Given the description of an element on the screen output the (x, y) to click on. 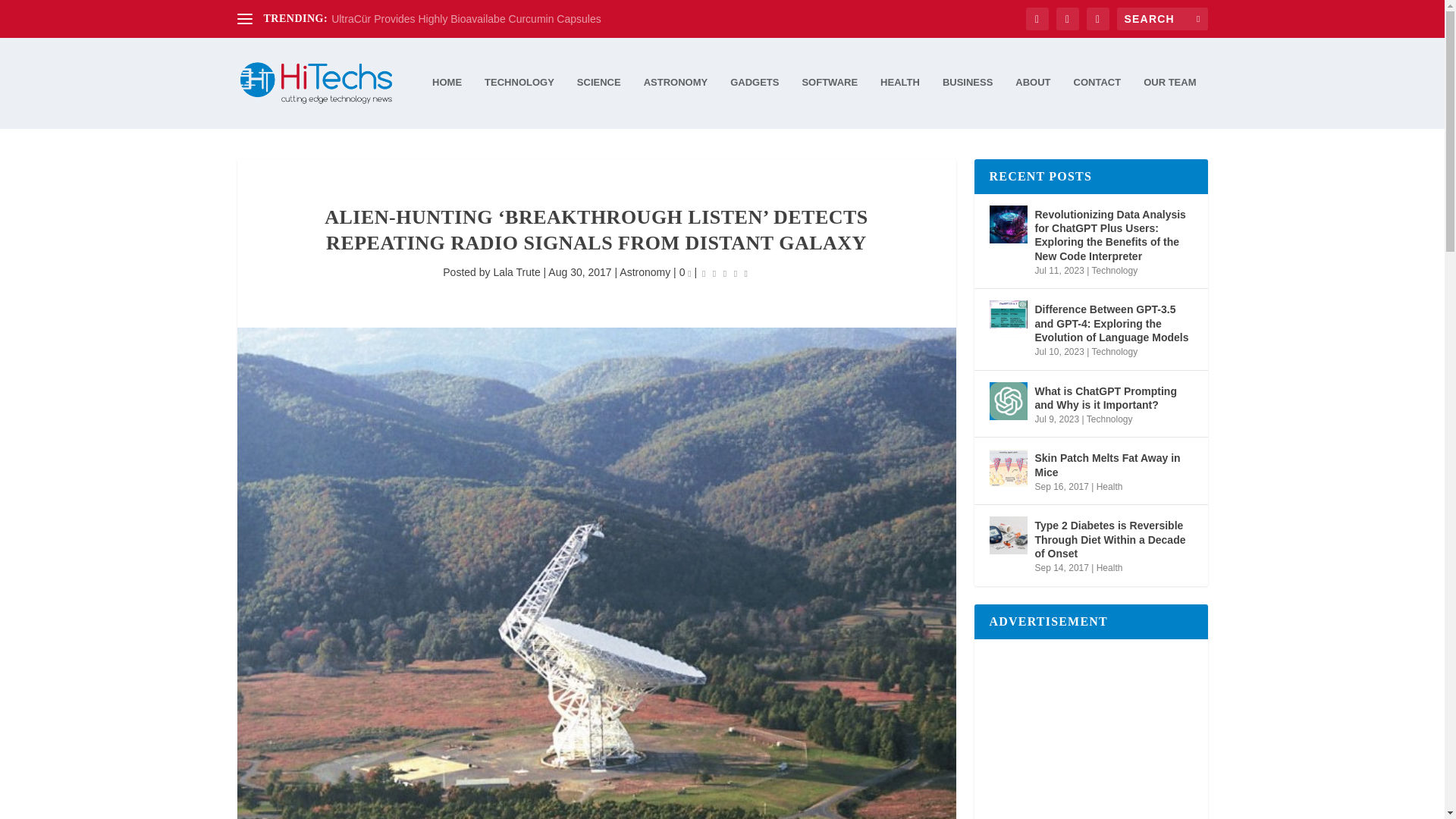
CONTACT (1097, 102)
Astronomy (644, 272)
Posts by Lala Trute (516, 272)
OUR TEAM (1168, 102)
ASTRONOMY (675, 102)
Rating: 0.00 (724, 272)
GADGETS (754, 102)
TECHNOLOGY (519, 102)
0 (685, 272)
BUSINESS (967, 102)
Search for: (1161, 18)
SOFTWARE (829, 102)
Lala Trute (516, 272)
